Given the description of an element on the screen output the (x, y) to click on. 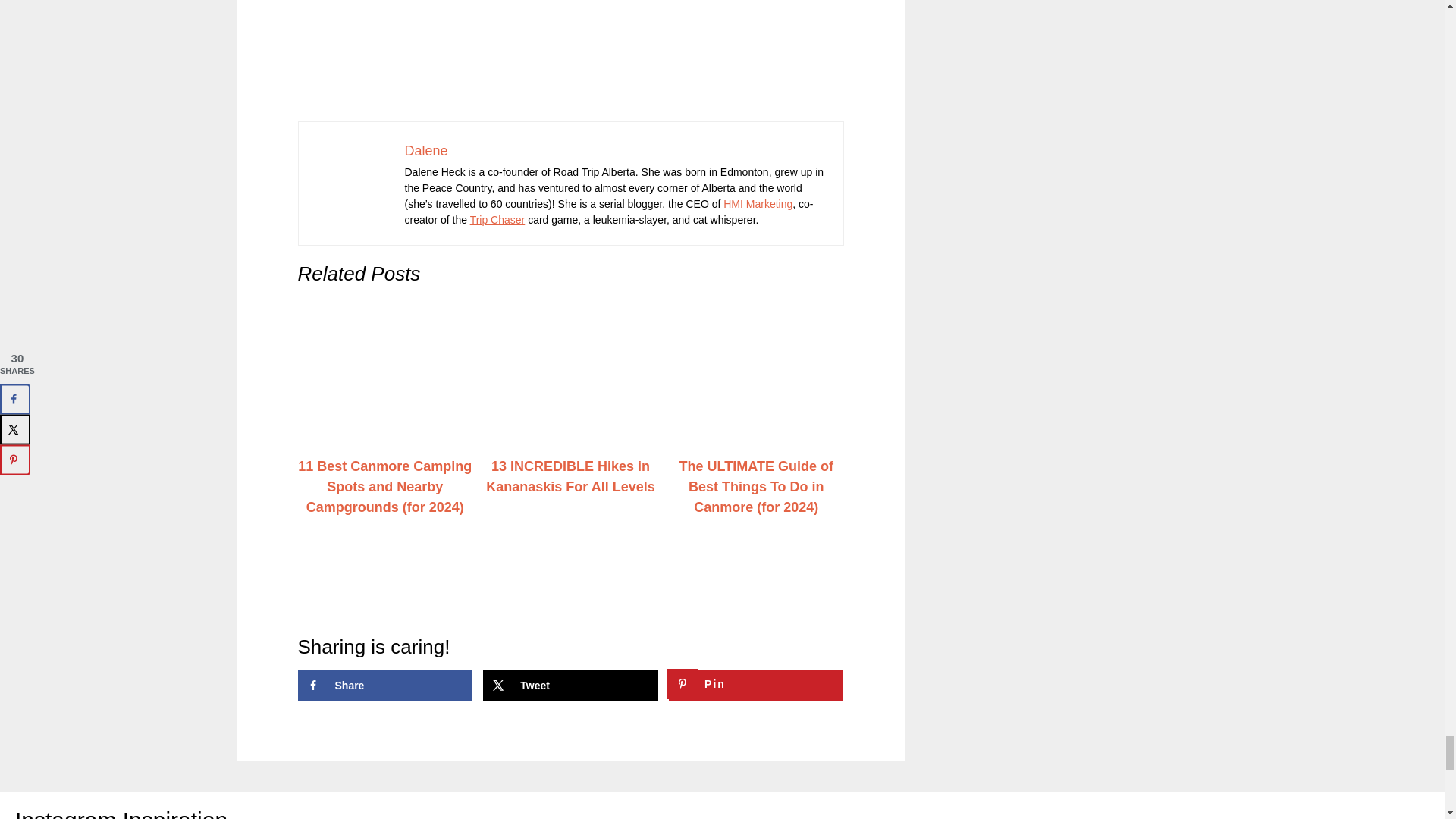
Save to Pinterest (755, 685)
Share on X (570, 685)
13 INCREDIBLE Hikes in Kananaskis For All Levels (570, 372)
Share on Facebook (384, 685)
13 INCREDIBLE Hikes in Kananaskis For All Levels (569, 476)
